Given the description of an element on the screen output the (x, y) to click on. 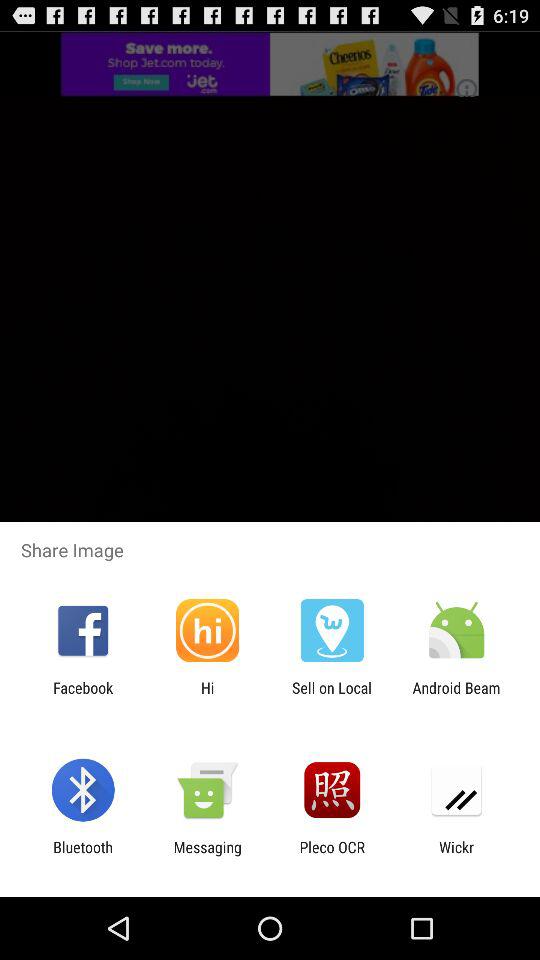
turn off the icon next to the pleco ocr (207, 856)
